Given the description of an element on the screen output the (x, y) to click on. 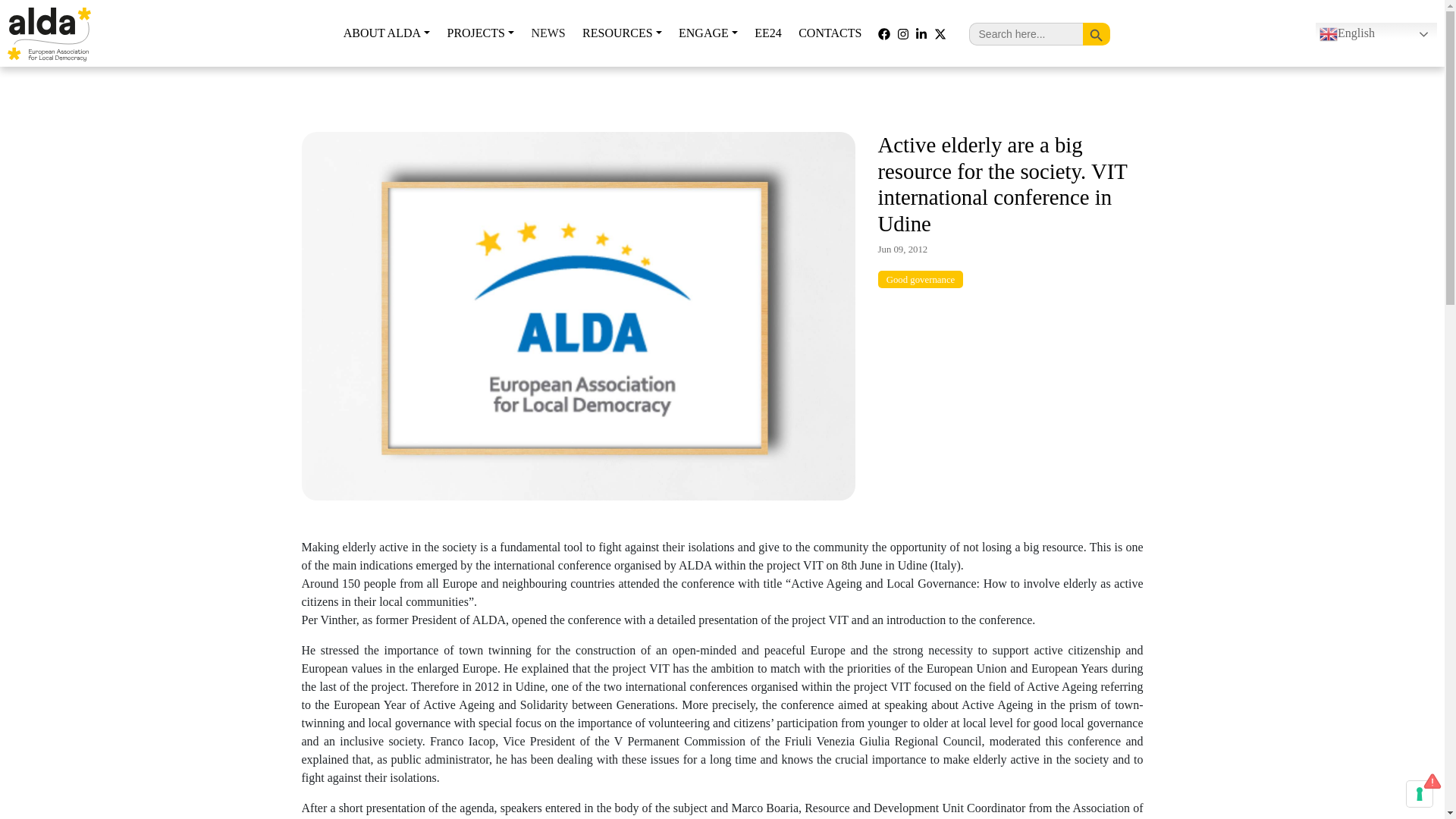
ABOUT ALDA (386, 33)
PROJECTS (480, 33)
ENGAGE (707, 33)
Search Button (1096, 33)
Good governance (920, 280)
RESOURCES (621, 33)
CONTACTS (830, 33)
